Given the description of an element on the screen output the (x, y) to click on. 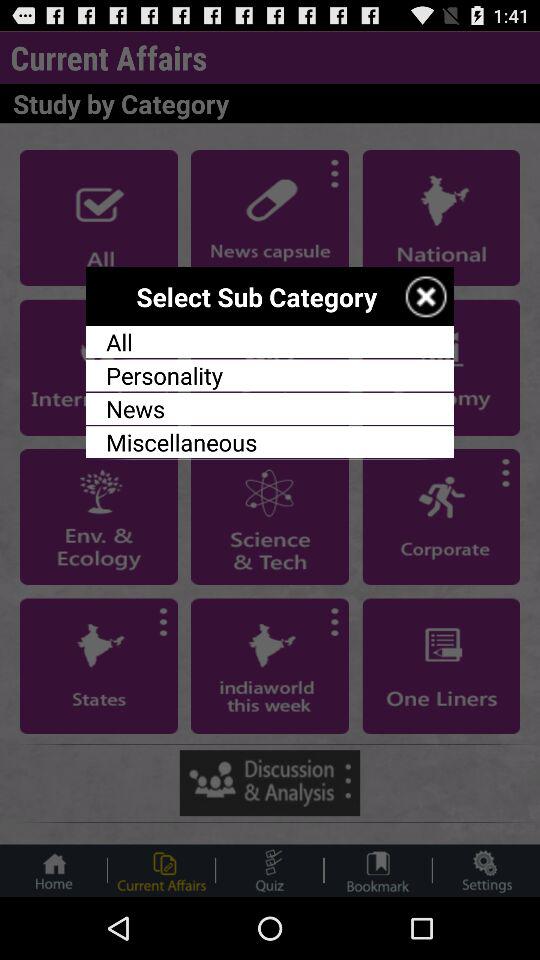
exit selection of sub category (425, 296)
